Given the description of an element on the screen output the (x, y) to click on. 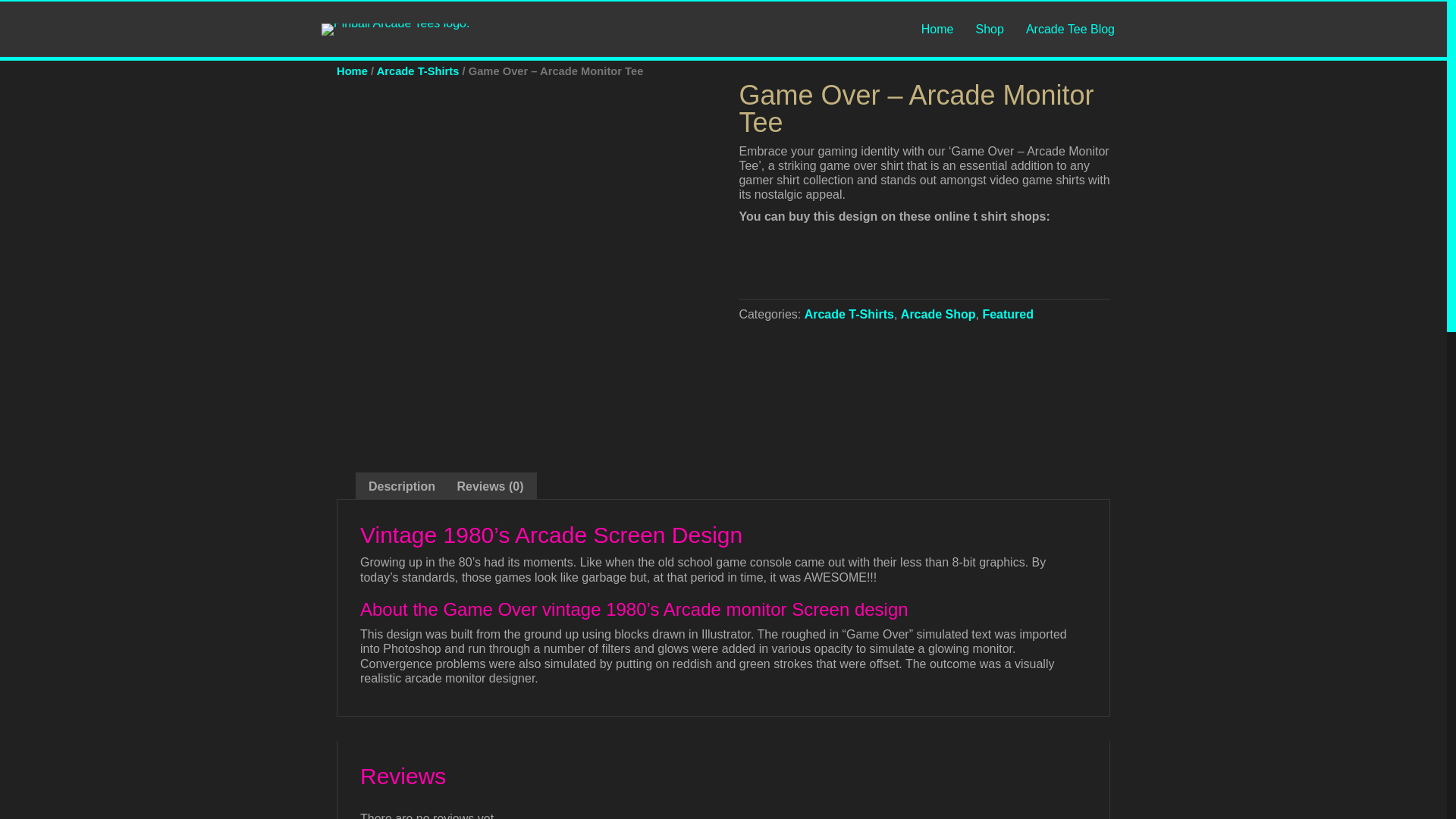
Arcade T-Shirts (849, 314)
Arcade Shop (938, 314)
Description (401, 486)
Arcade T-Shirts (418, 70)
Pinball Arcade Tees Logo (394, 29)
Featured (1007, 314)
Home (937, 29)
Shop (988, 29)
Home (352, 70)
Arcade Tee Blog (1069, 29)
